Given the description of an element on the screen output the (x, y) to click on. 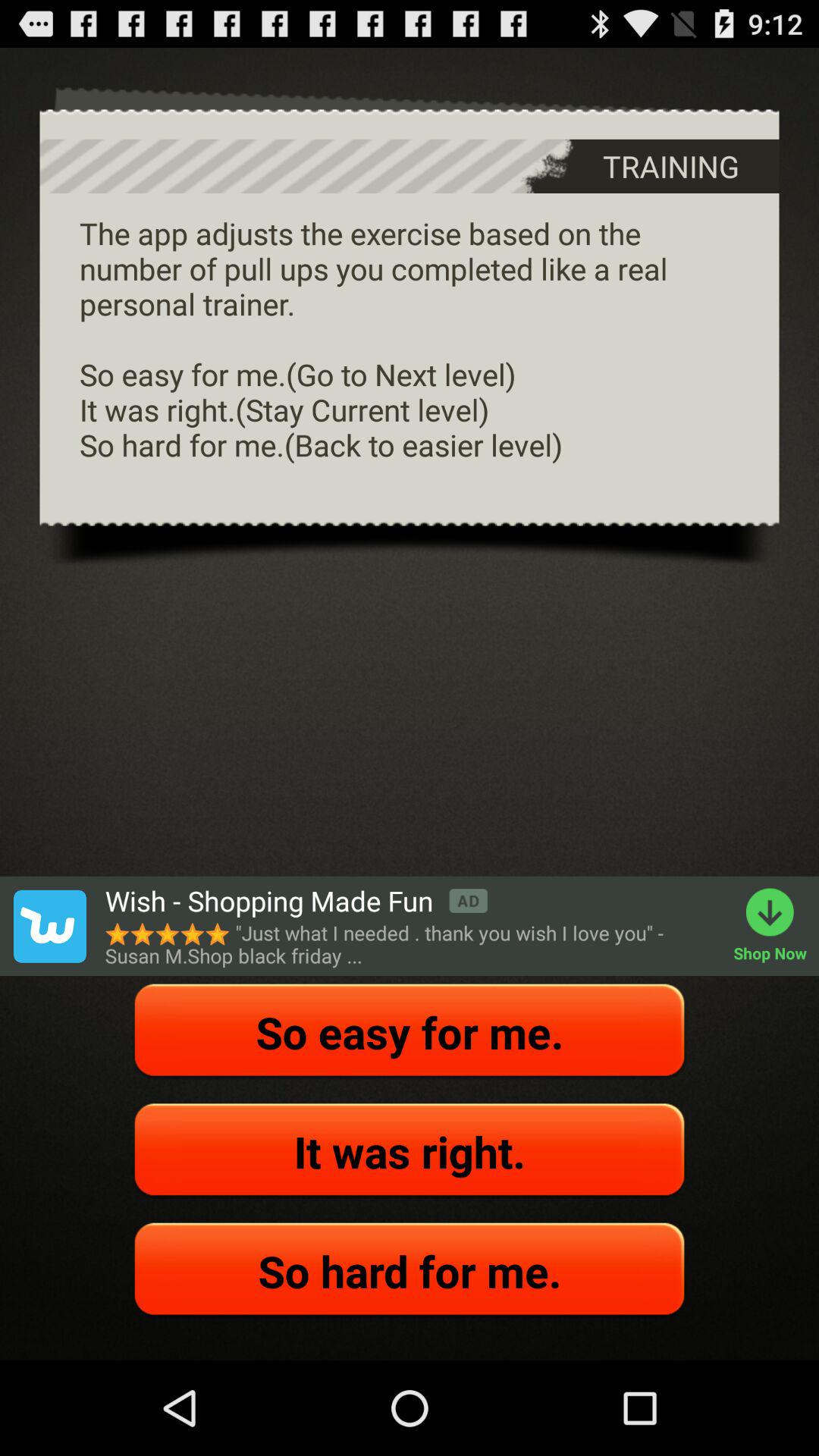
open it was right. icon (409, 1151)
